Given the description of an element on the screen output the (x, y) to click on. 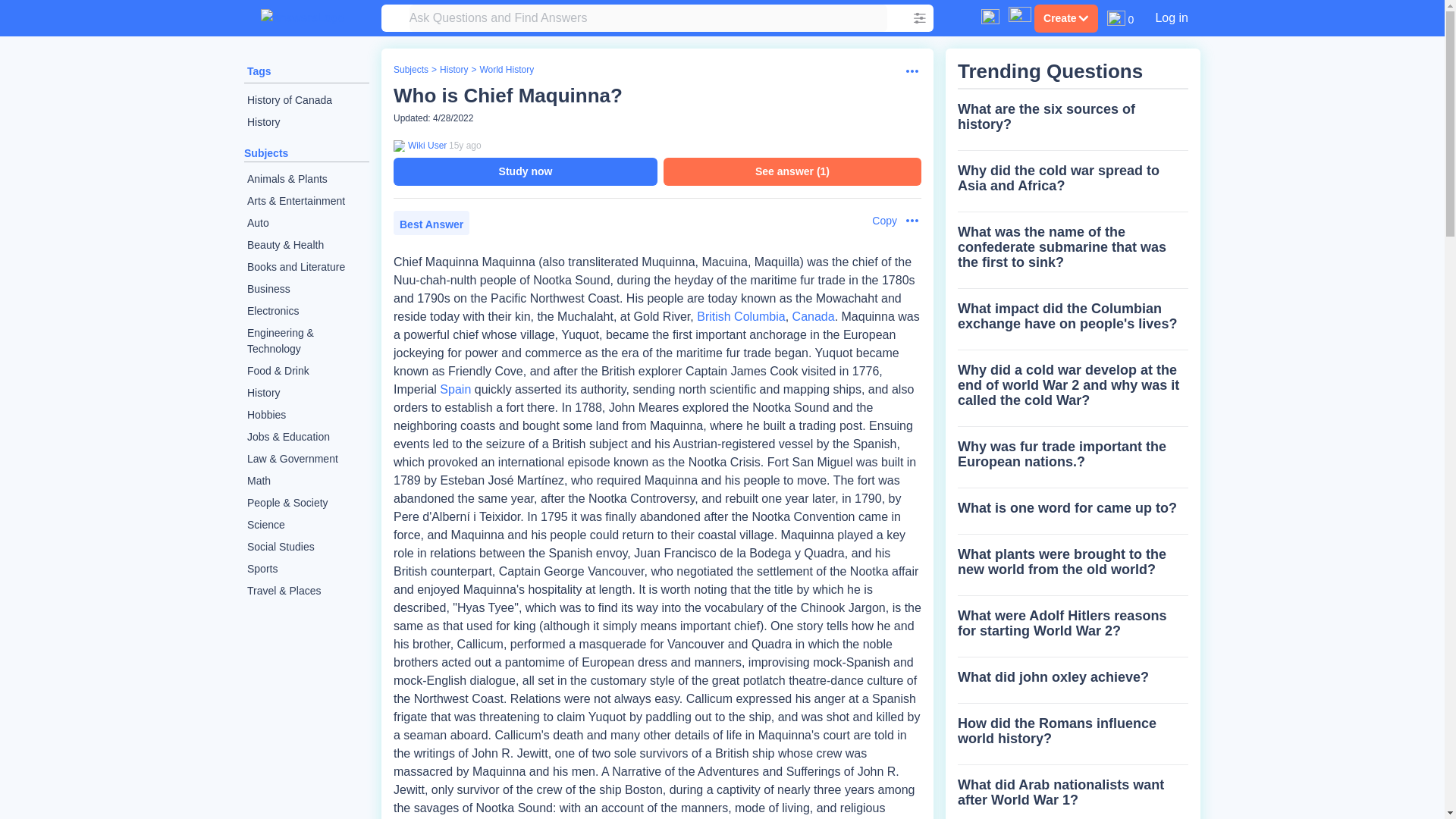
Subjects (266, 152)
Copy (876, 220)
2008-10-29 02:56:17 (464, 145)
History (306, 122)
Spain (454, 389)
History (306, 393)
History of Canada (306, 100)
Auto (306, 223)
History (453, 69)
Subjects (410, 69)
